Given the description of an element on the screen output the (x, y) to click on. 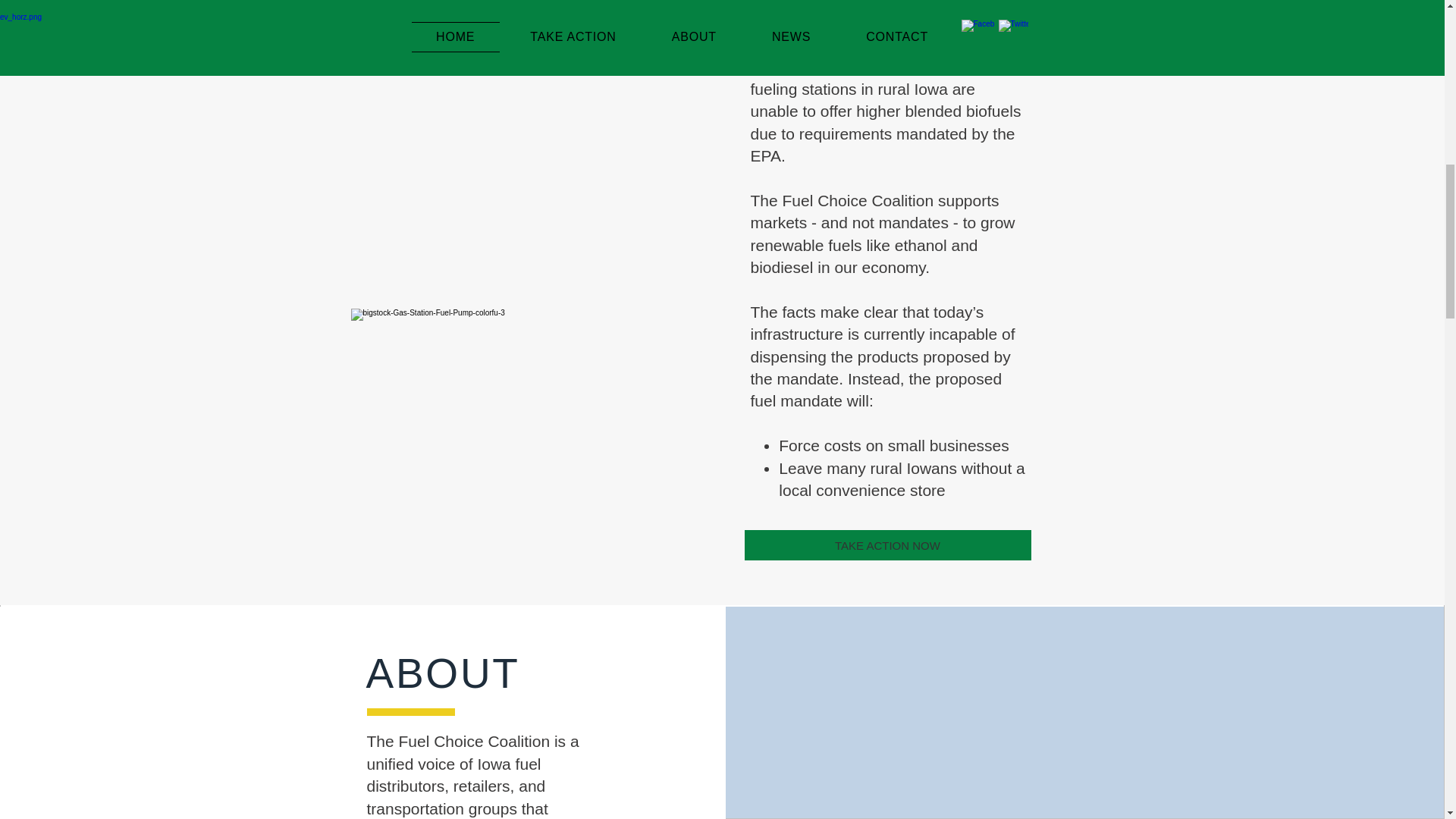
TAKE ACTION NOW (887, 544)
